Given the description of an element on the screen output the (x, y) to click on. 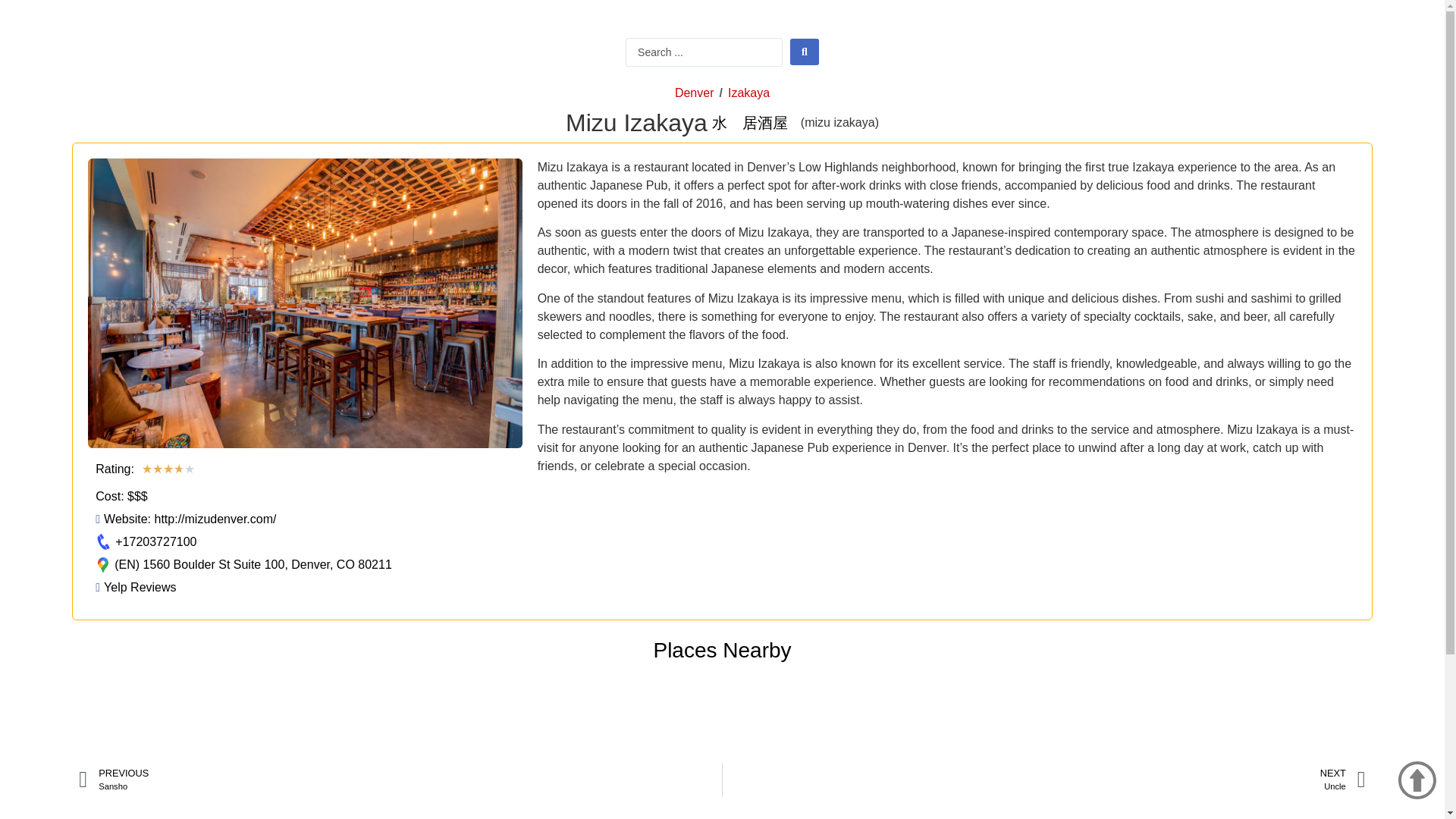
Yelp Reviews (400, 779)
Izakaya (136, 587)
Mizu Izakaya 1 (1043, 779)
Denver (748, 93)
